Given the description of an element on the screen output the (x, y) to click on. 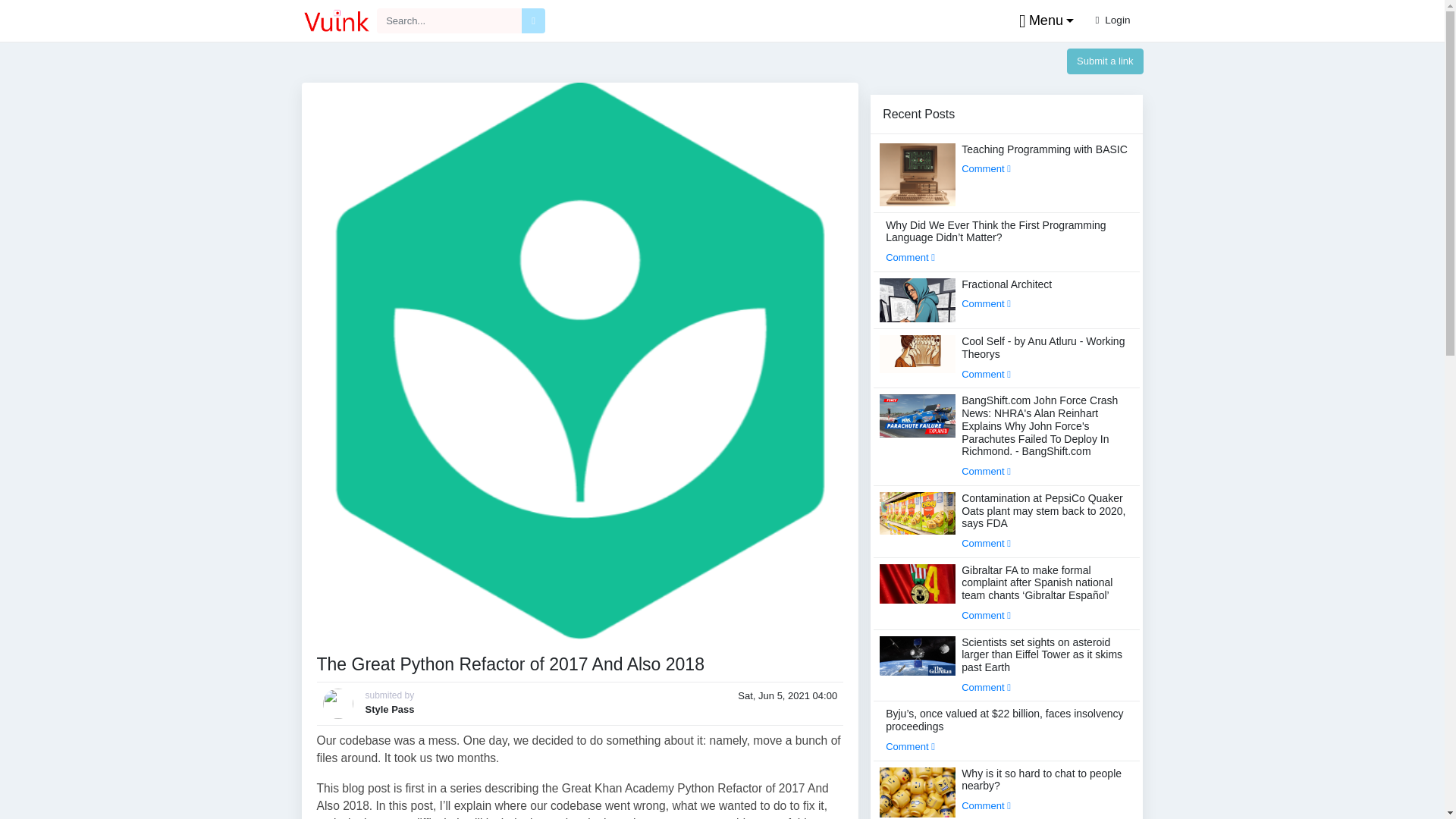
Menu (1043, 20)
Submit a link (1104, 61)
